Given the description of an element on the screen output the (x, y) to click on. 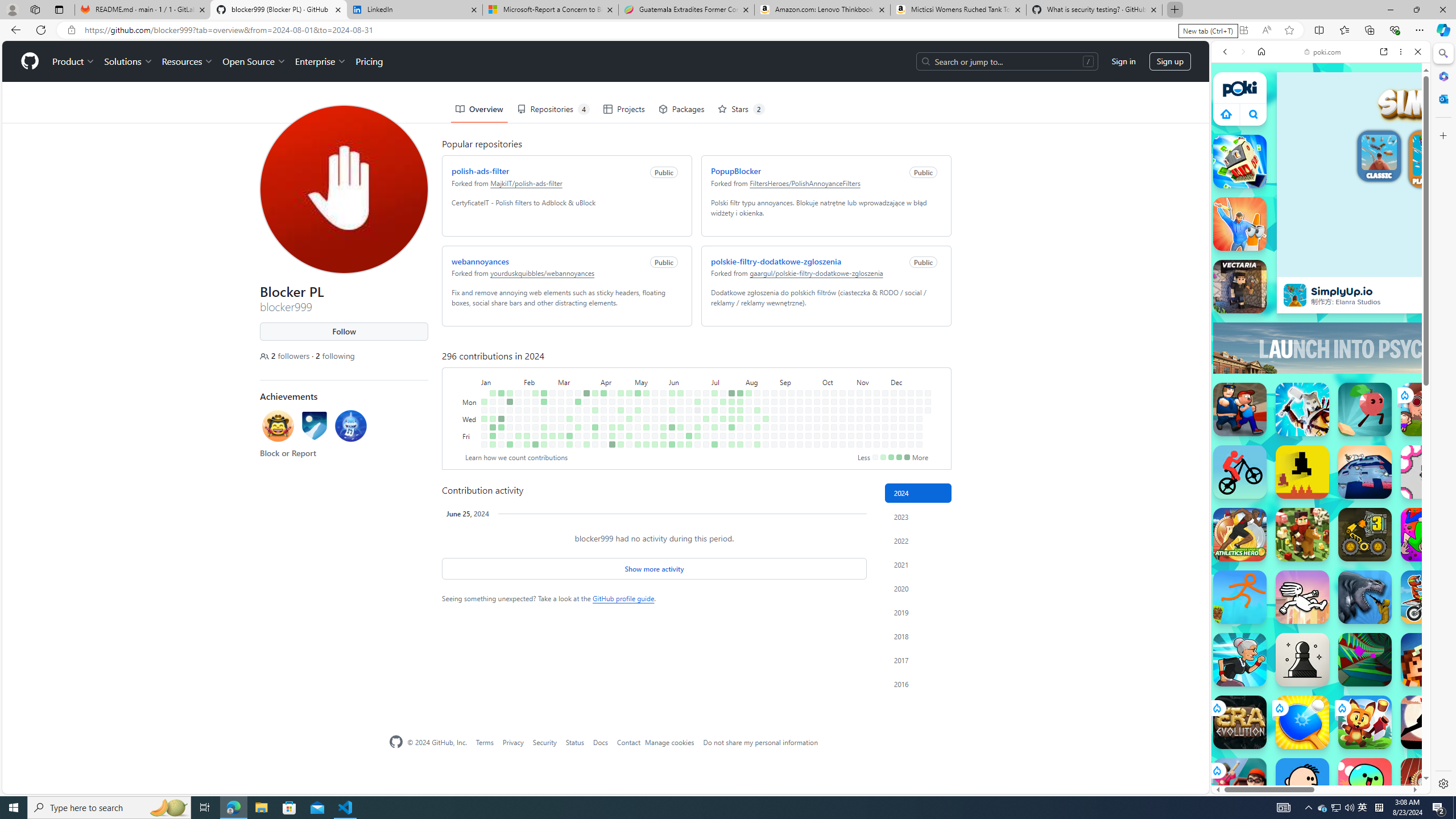
No contributions on November 16th. (867, 444)
No contributions on January 29th. (518, 401)
No contributions on November 28th. (885, 427)
Sharkosaurus Rampage (1364, 597)
Big Tower Tiny Square (1364, 471)
No contributions on October 19th. (834, 444)
No contributions on October 28th. (850, 401)
2 contributions on April 23rd. (620, 410)
No contributions on November 13th. (867, 418)
Blumgi Slime (1364, 784)
Show More Io Games (1390, 351)
No contributions on March 28th. (586, 427)
Apple Knight: Farmers Market Apple Knight: Farmers Market (1302, 534)
No contributions on November 30th. (885, 444)
